Given the description of an element on the screen output the (x, y) to click on. 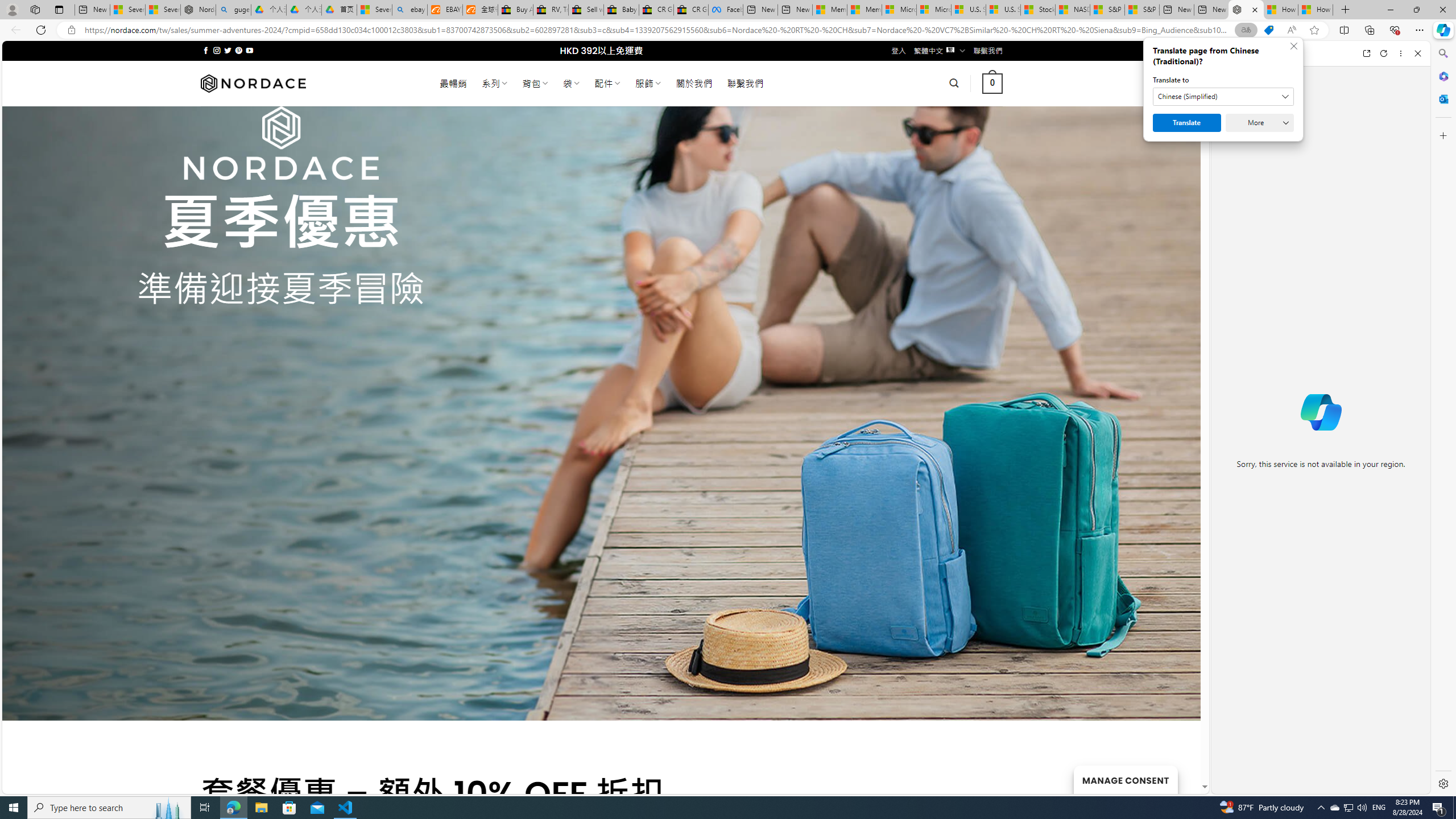
 0  (992, 83)
Translate to (1223, 96)
Microsoft 365 (1442, 76)
